Given the description of an element on the screen output the (x, y) to click on. 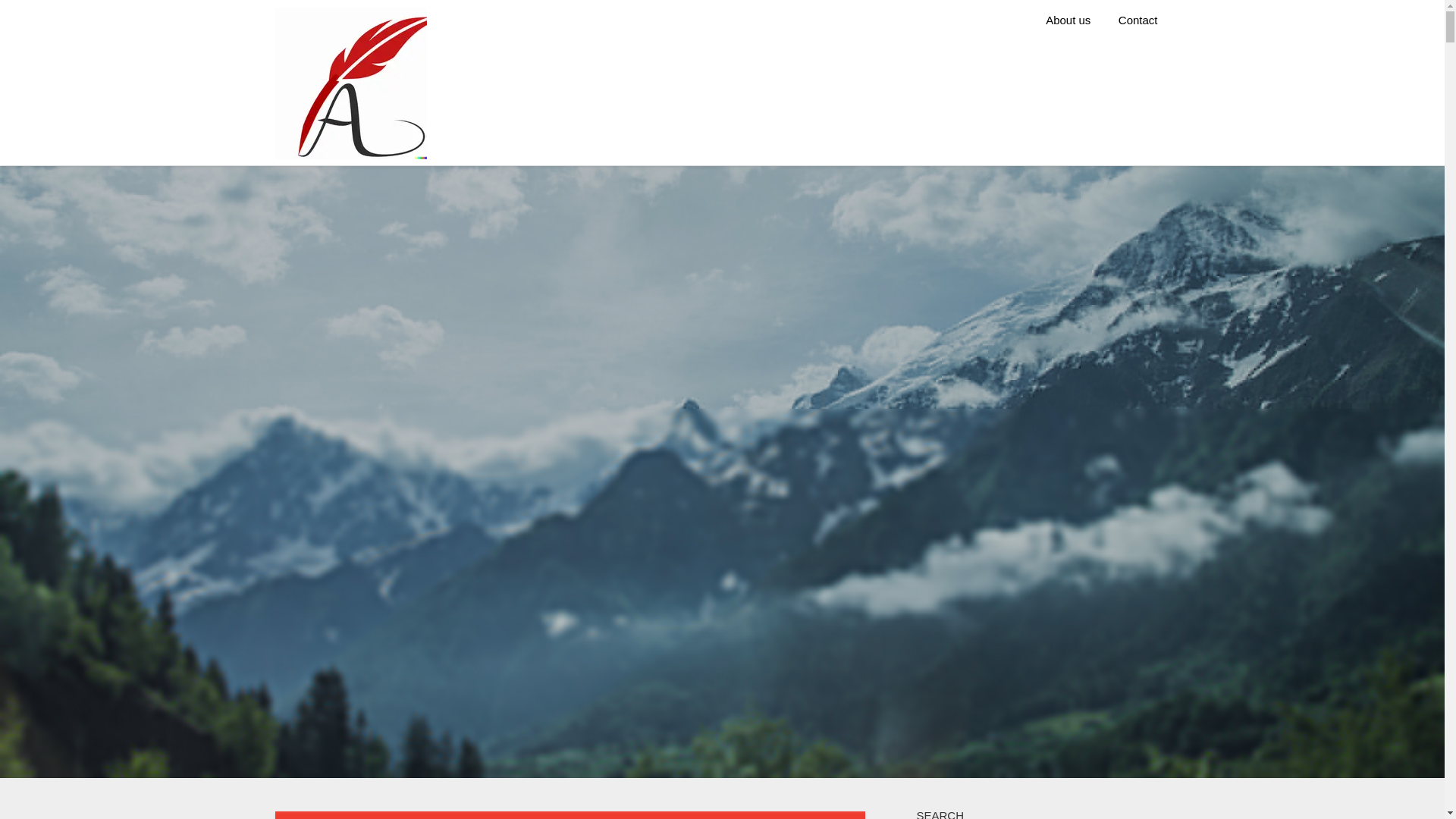
About us (1067, 20)
Contact (1138, 20)
